Given the description of an element on the screen output the (x, y) to click on. 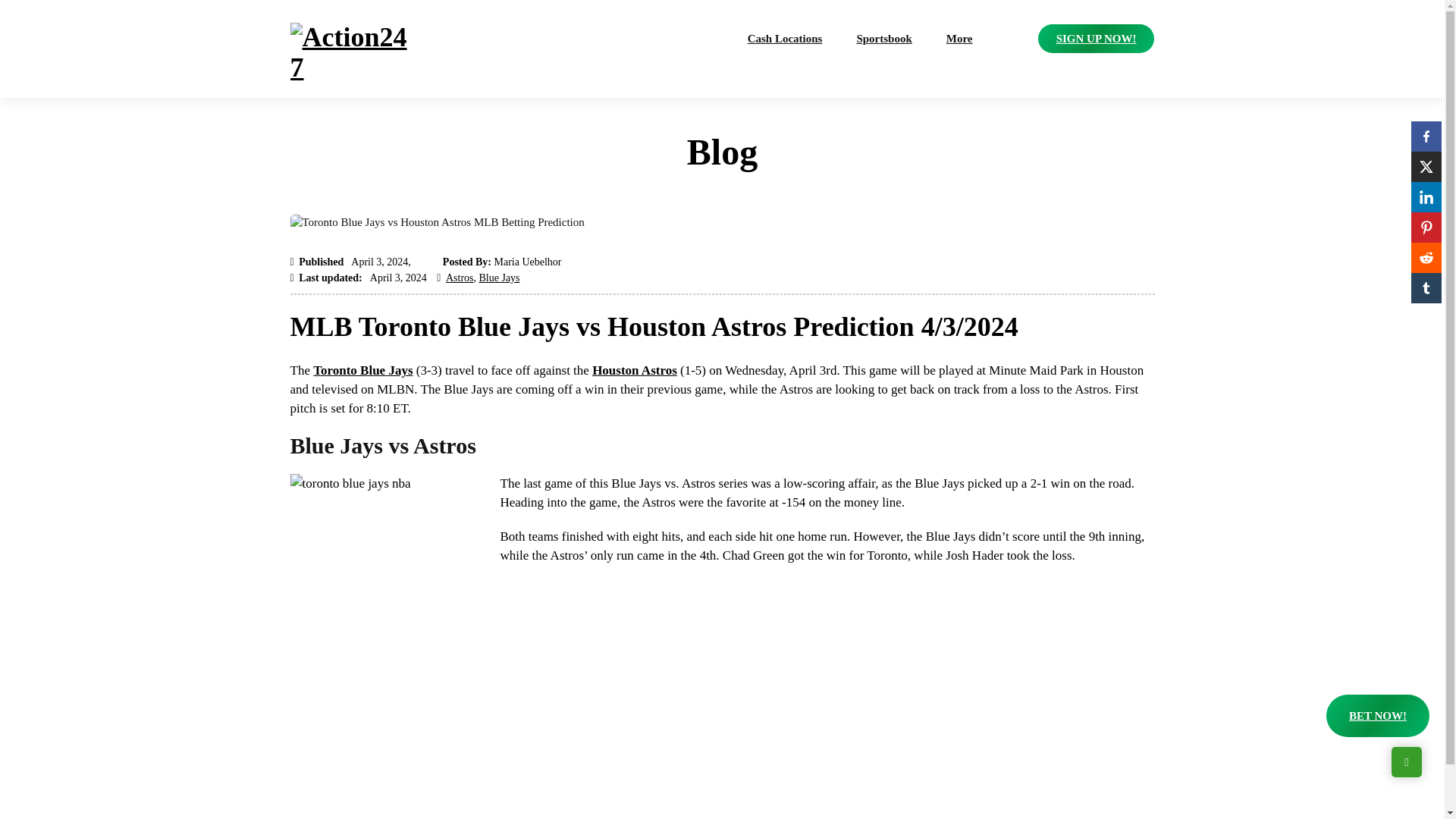
Pinterest (1425, 227)
Houston Astros (634, 370)
More (959, 38)
Linkedin (1425, 196)
Facebook (1425, 136)
Cash Locations (785, 38)
Blue Jays (499, 277)
Tumblr (1425, 287)
SIGN UP NOW! (1096, 38)
X (1425, 166)
Sportsbook (883, 38)
Toronto Blue Jays (362, 370)
Astros (459, 277)
Reddit (1425, 257)
